Given the description of an element on the screen output the (x, y) to click on. 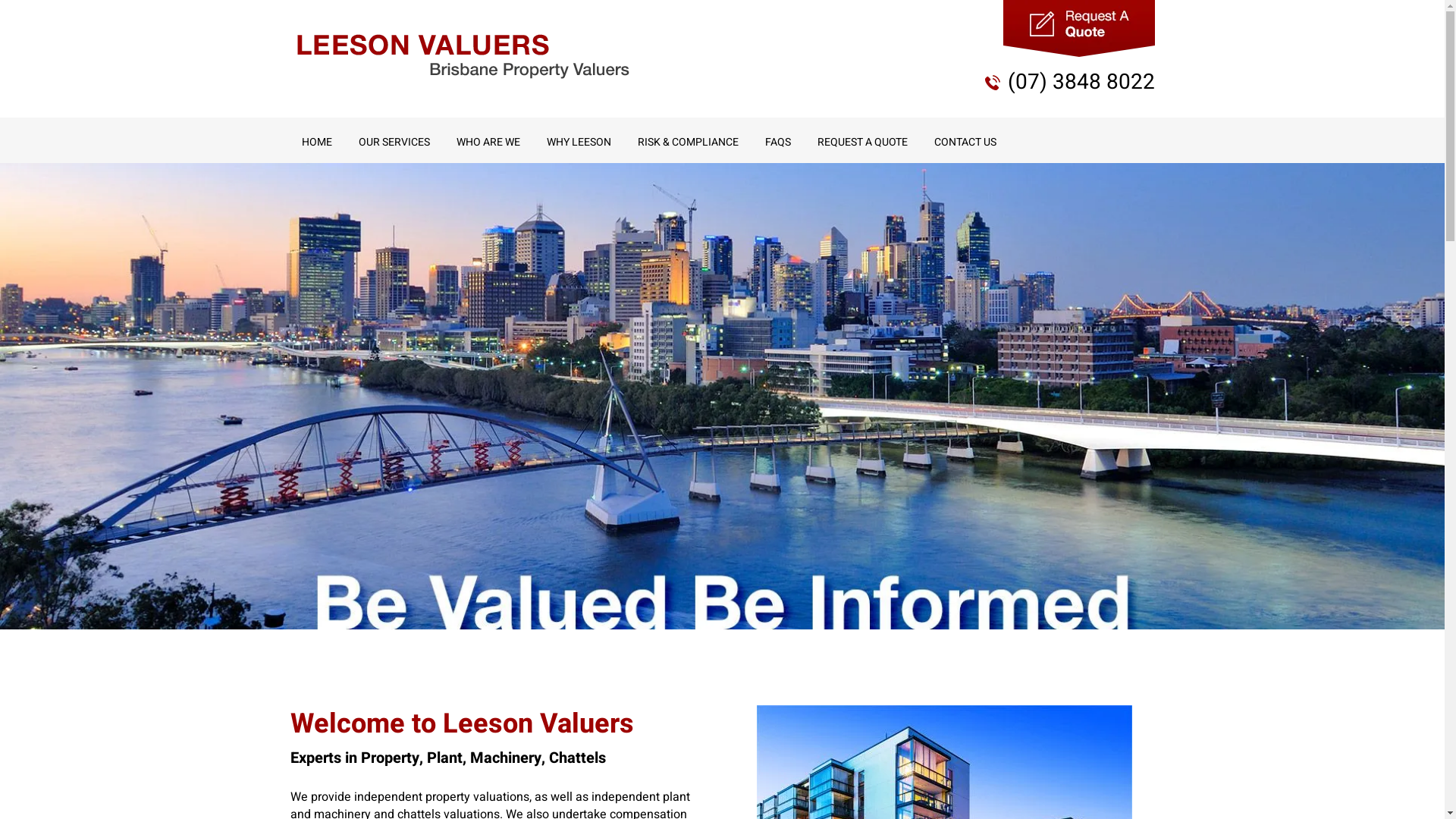
OUR SERVICES Element type: text (394, 141)
Leeson & Co Pty Ltd Trading As Leeson Valuers Element type: hover (463, 56)
HOME Element type: text (315, 141)
Leeson & Co Pty Ltd Trading As Leeson Valuers Element type: hover (463, 56)
(07) 3848 8022 Element type: text (1080, 81)
RISK & COMPLIANCE Element type: text (687, 141)
CONTACT US Element type: text (964, 141)
WHY LEESON Element type: text (578, 141)
REQUEST A QUOTE Element type: text (861, 141)
WHO ARE WE Element type: text (487, 141)
FAQS Element type: text (777, 141)
